Given the description of an element on the screen output the (x, y) to click on. 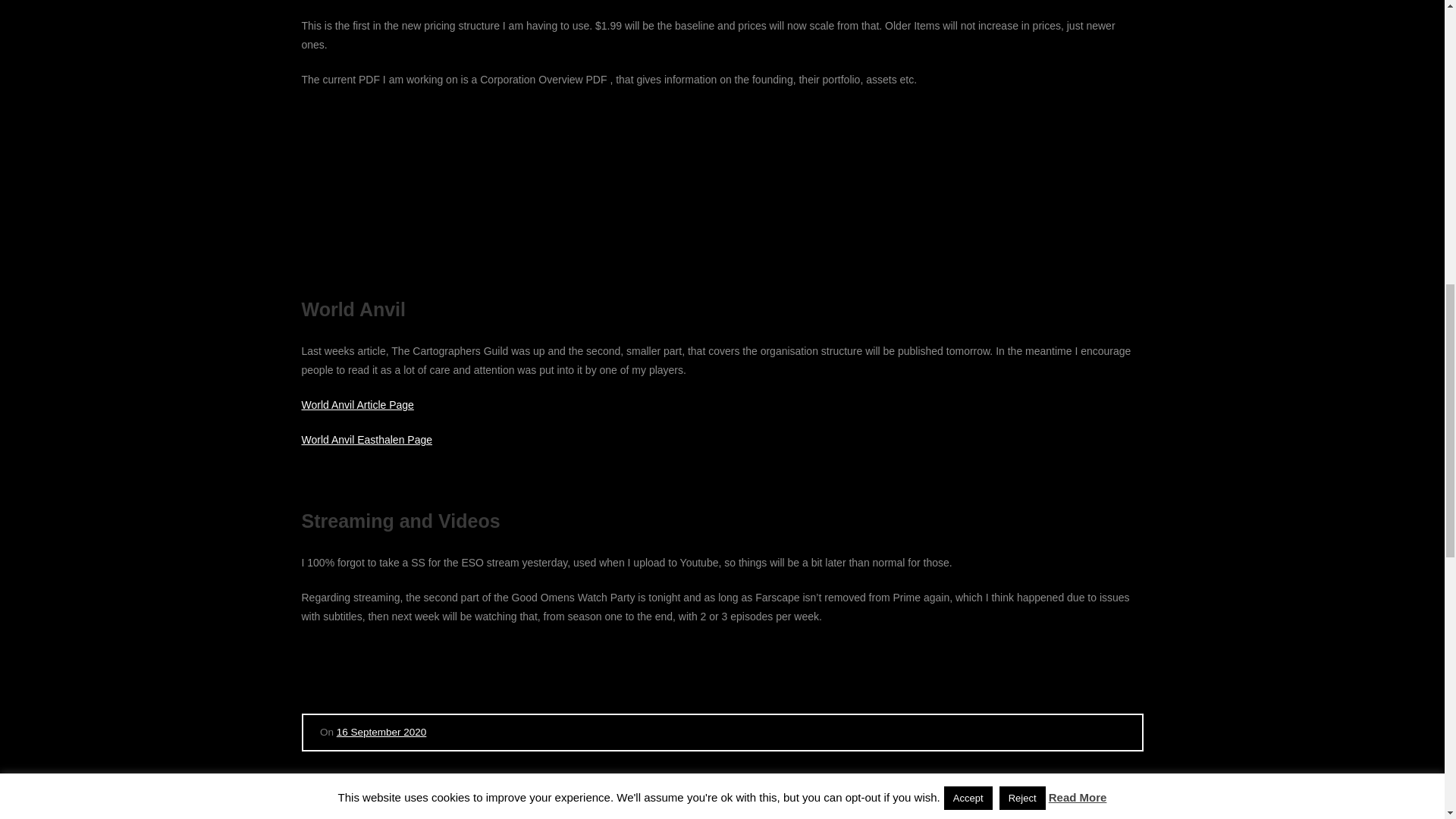
World Anvil Easthalen Page (366, 439)
Update (352, 788)
16 September 2020 (381, 731)
News (316, 788)
World Anvil Article Page (357, 404)
